Given the description of an element on the screen output the (x, y) to click on. 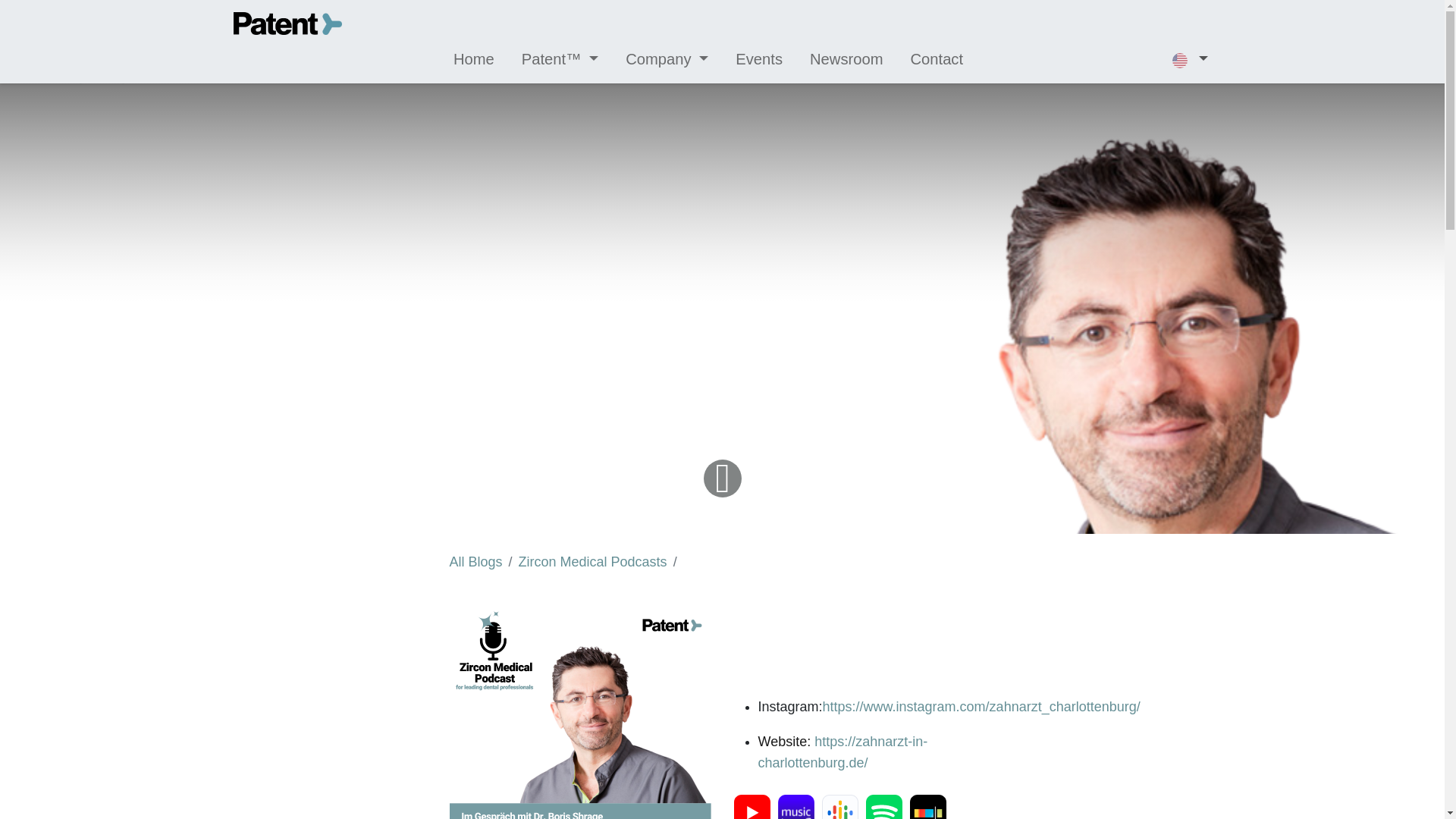
Contact (936, 58)
Home (473, 58)
Company (667, 58)
All Blogs (475, 561)
Events (759, 58)
Newsroom (845, 58)
Zircon Medical Podcasts (592, 561)
